Given the description of an element on the screen output the (x, y) to click on. 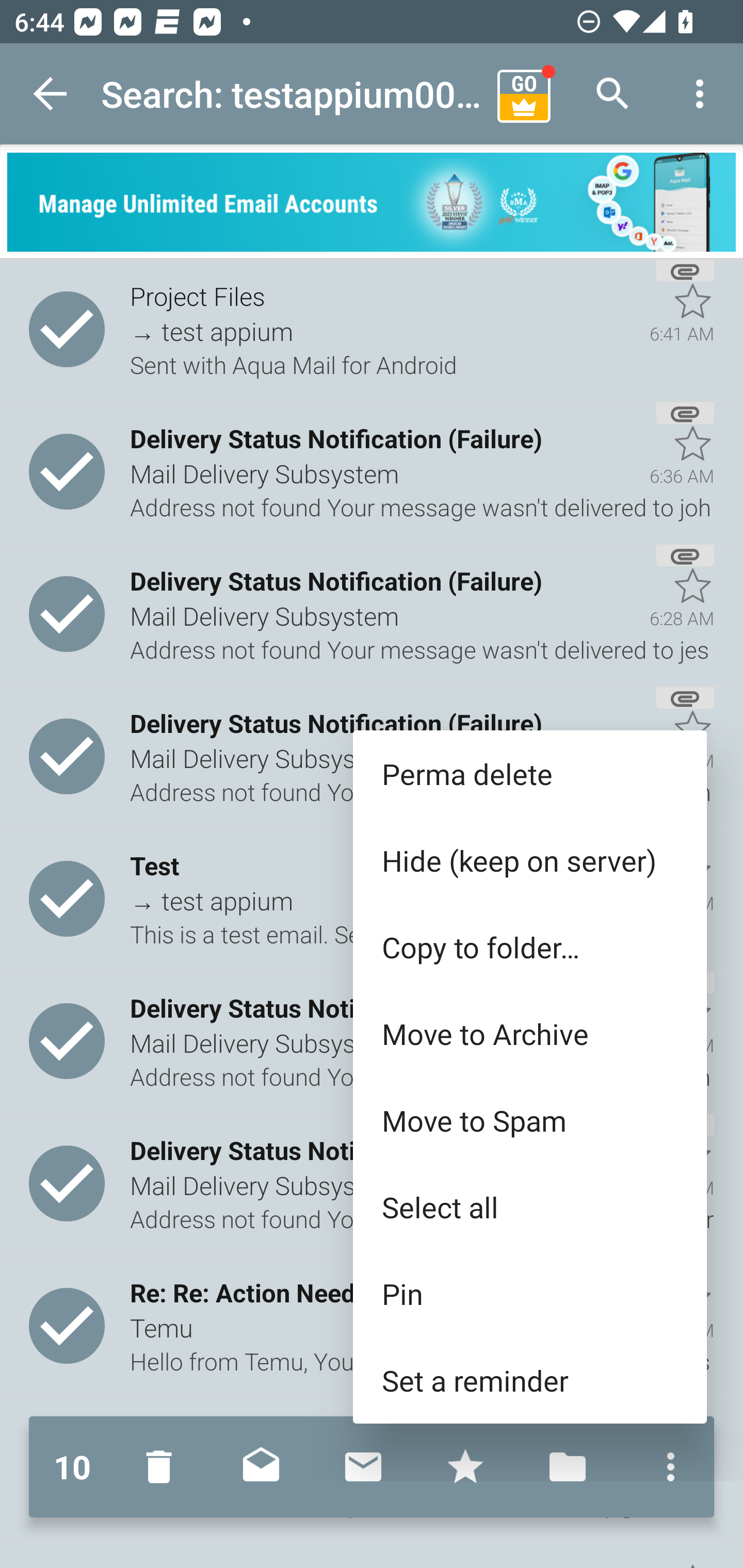
Perma delete (529, 773)
Hide (keep on server) (529, 859)
Copy to folder… (529, 946)
Move to Archive (529, 1033)
Move to Spam (529, 1120)
Select all (529, 1206)
Pin (529, 1293)
Set a reminder (529, 1380)
